Given the description of an element on the screen output the (x, y) to click on. 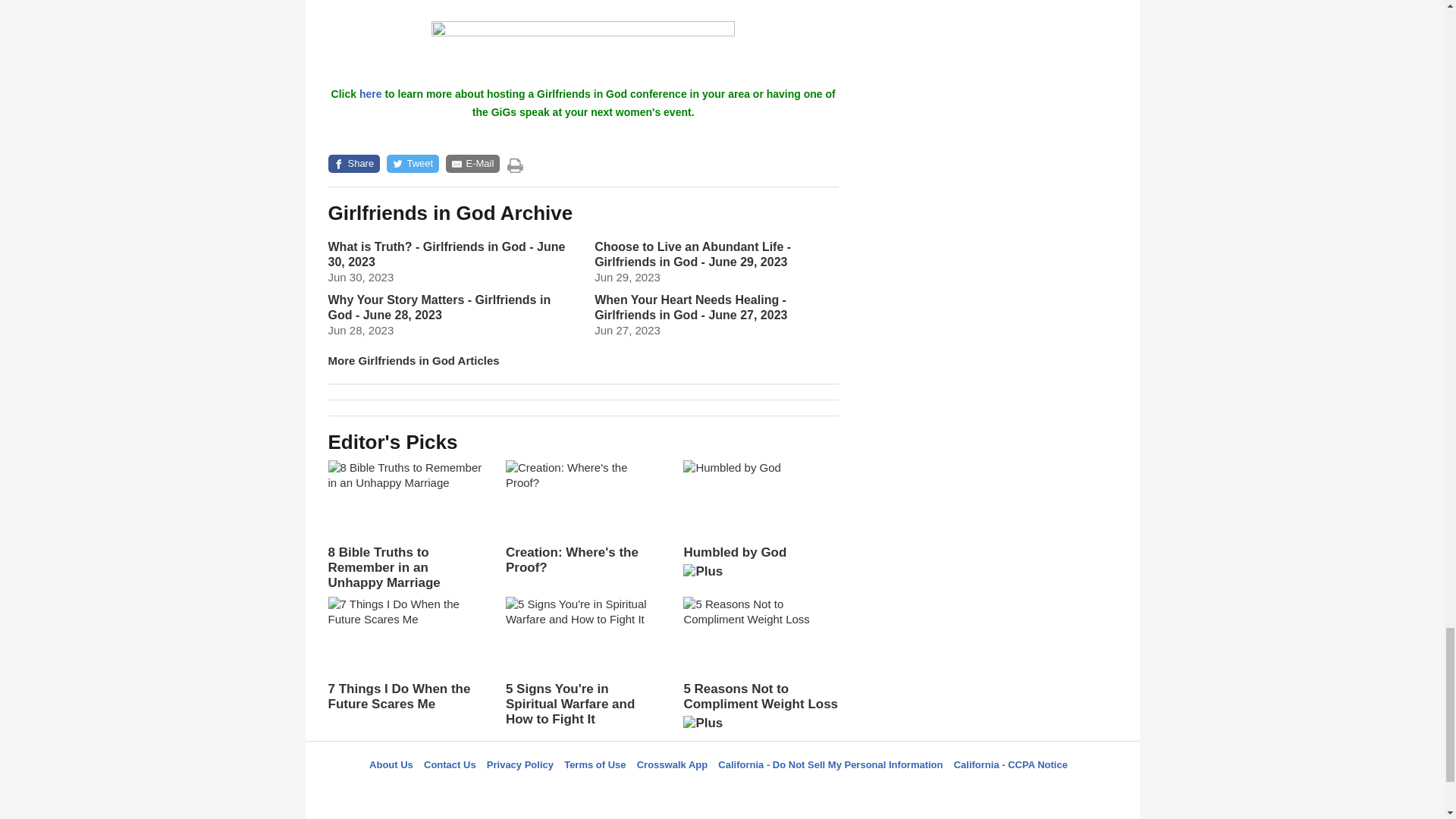
Humbled by God (760, 524)
YouTube (795, 791)
Pinterest (757, 791)
8 Bible Truths to Remember in an Unhappy Marriage (404, 525)
5 Reasons Not to Compliment Weight Loss (760, 669)
7 Things I Do When the Future Scares Me (404, 654)
5 Signs You're in Spiritual Warfare and How to Fight It (583, 662)
LifeAudio (719, 791)
Facebook (645, 791)
Creation: Where's the Proof? (583, 517)
